Given the description of an element on the screen output the (x, y) to click on. 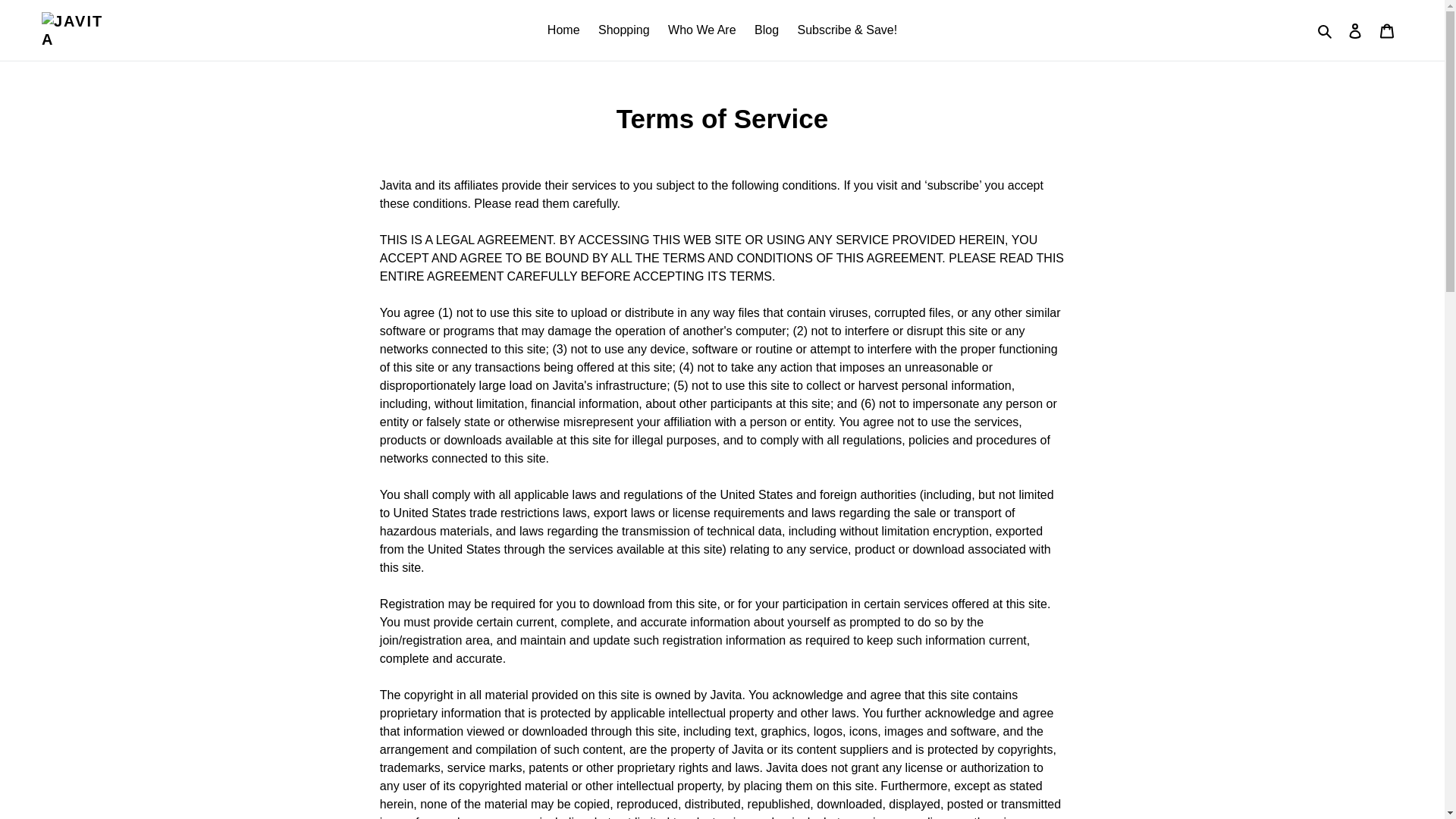
Shopping (624, 29)
Blog (766, 29)
Search (1326, 30)
Log in (1355, 29)
Cart (1387, 29)
Home (564, 29)
Who We Are (702, 29)
